Given the description of an element on the screen output the (x, y) to click on. 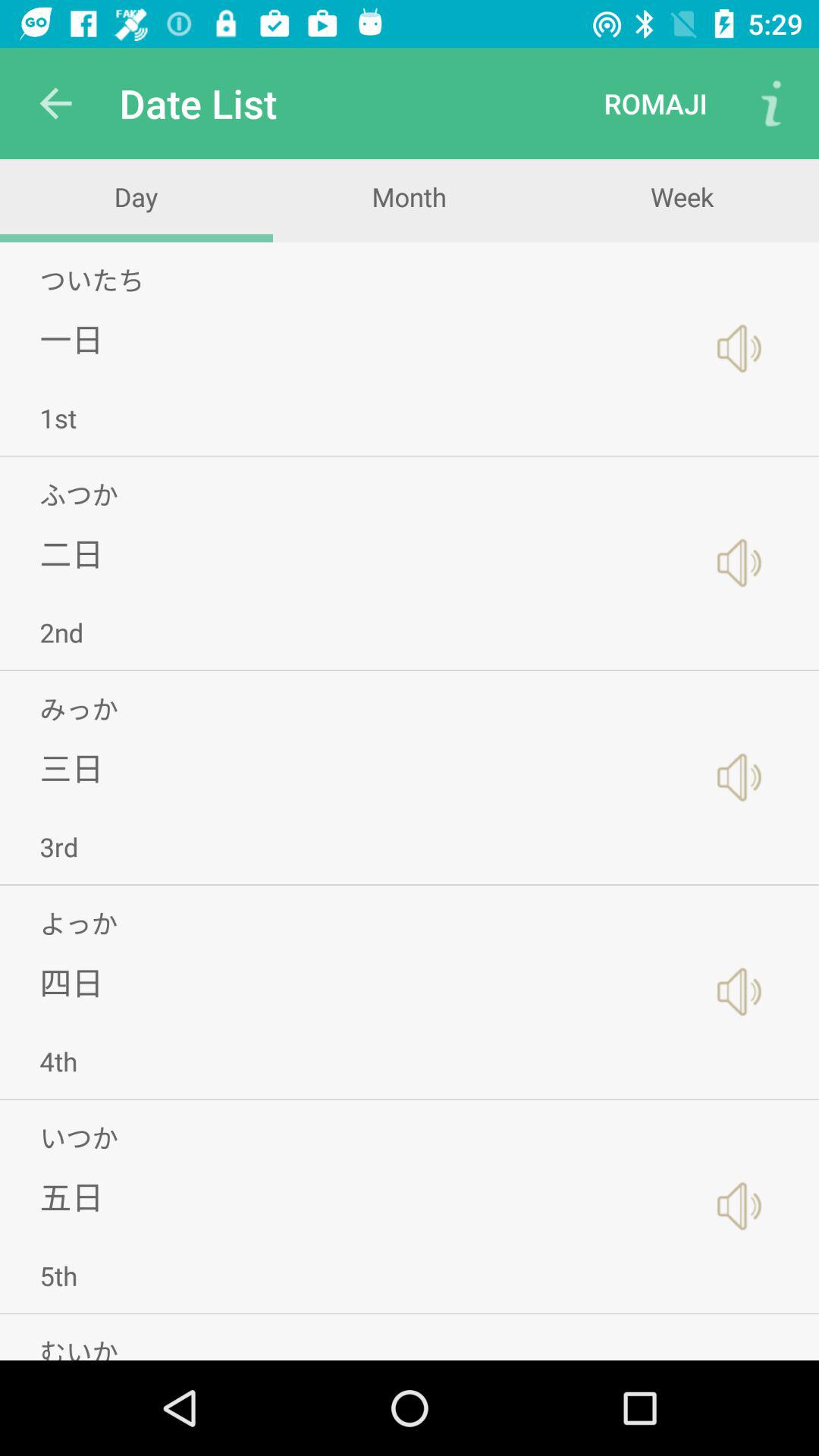
select the icon above 5th app (71, 1196)
